Given the description of an element on the screen output the (x, y) to click on. 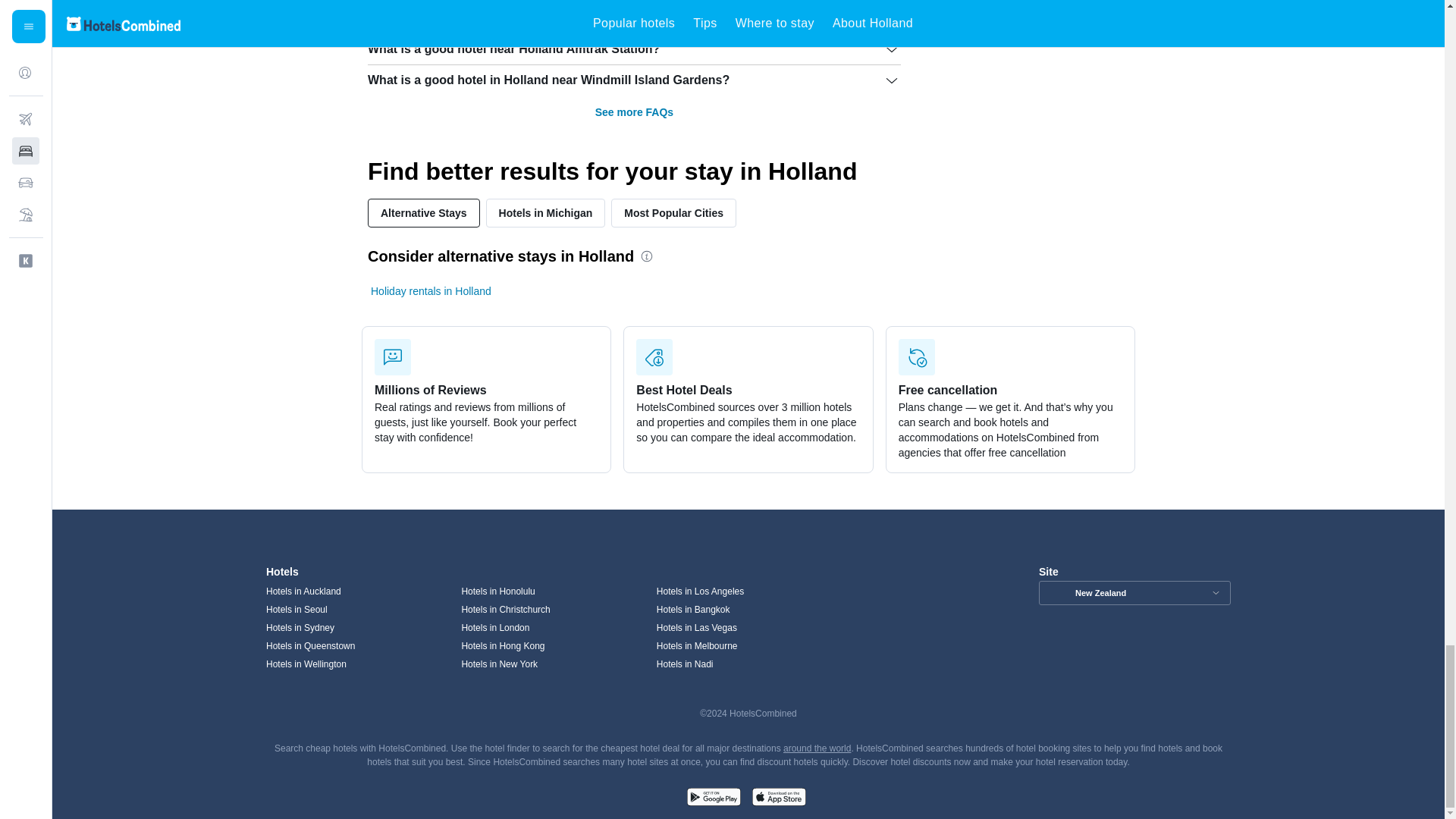
Get it on Google Play (713, 798)
Download on the App Store (778, 798)
